Given the description of an element on the screen output the (x, y) to click on. 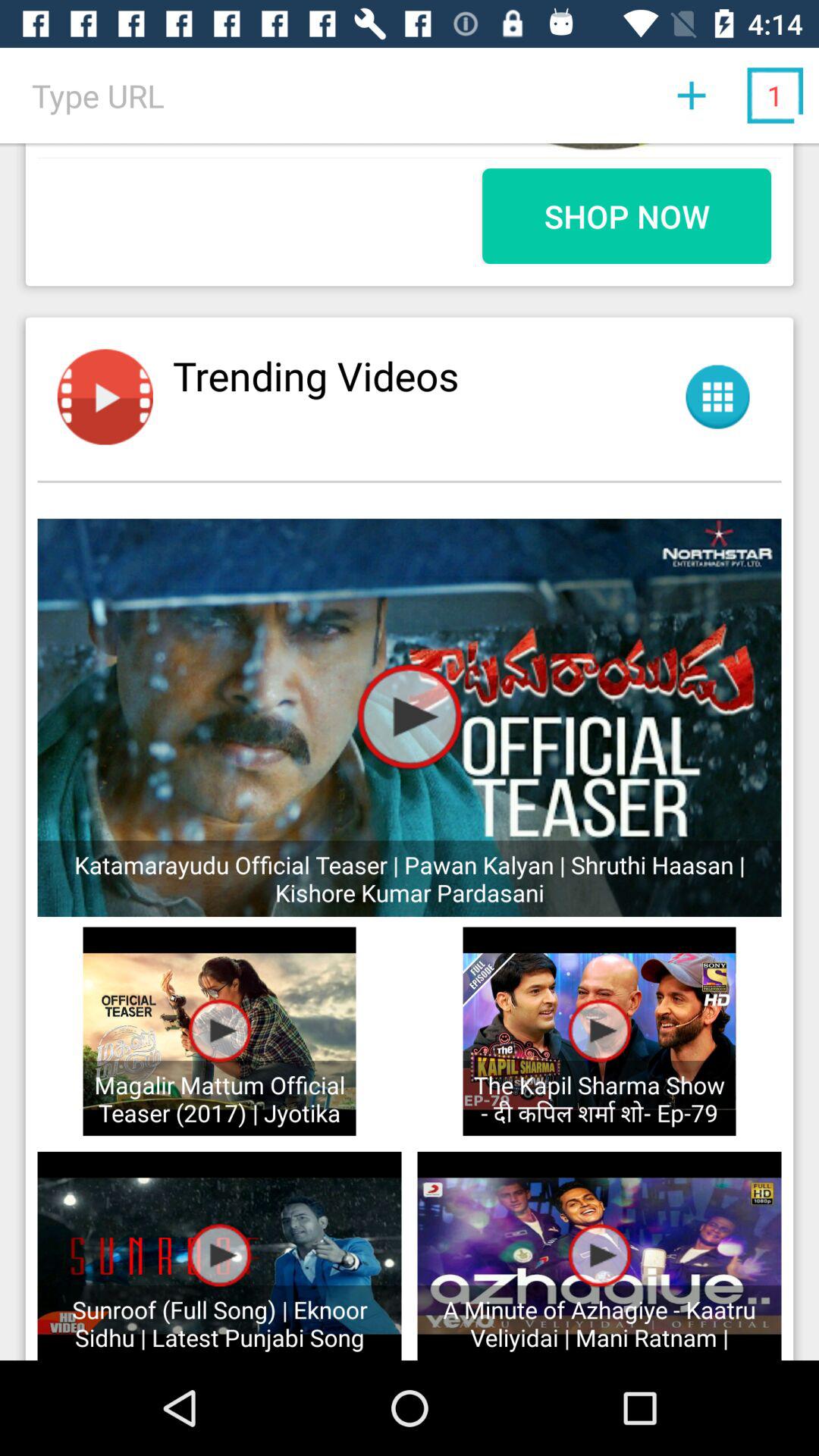
select the first button which is above shop now (691, 95)
click on play button on the kapil sharma show (599, 1030)
